Given the description of an element on the screen output the (x, y) to click on. 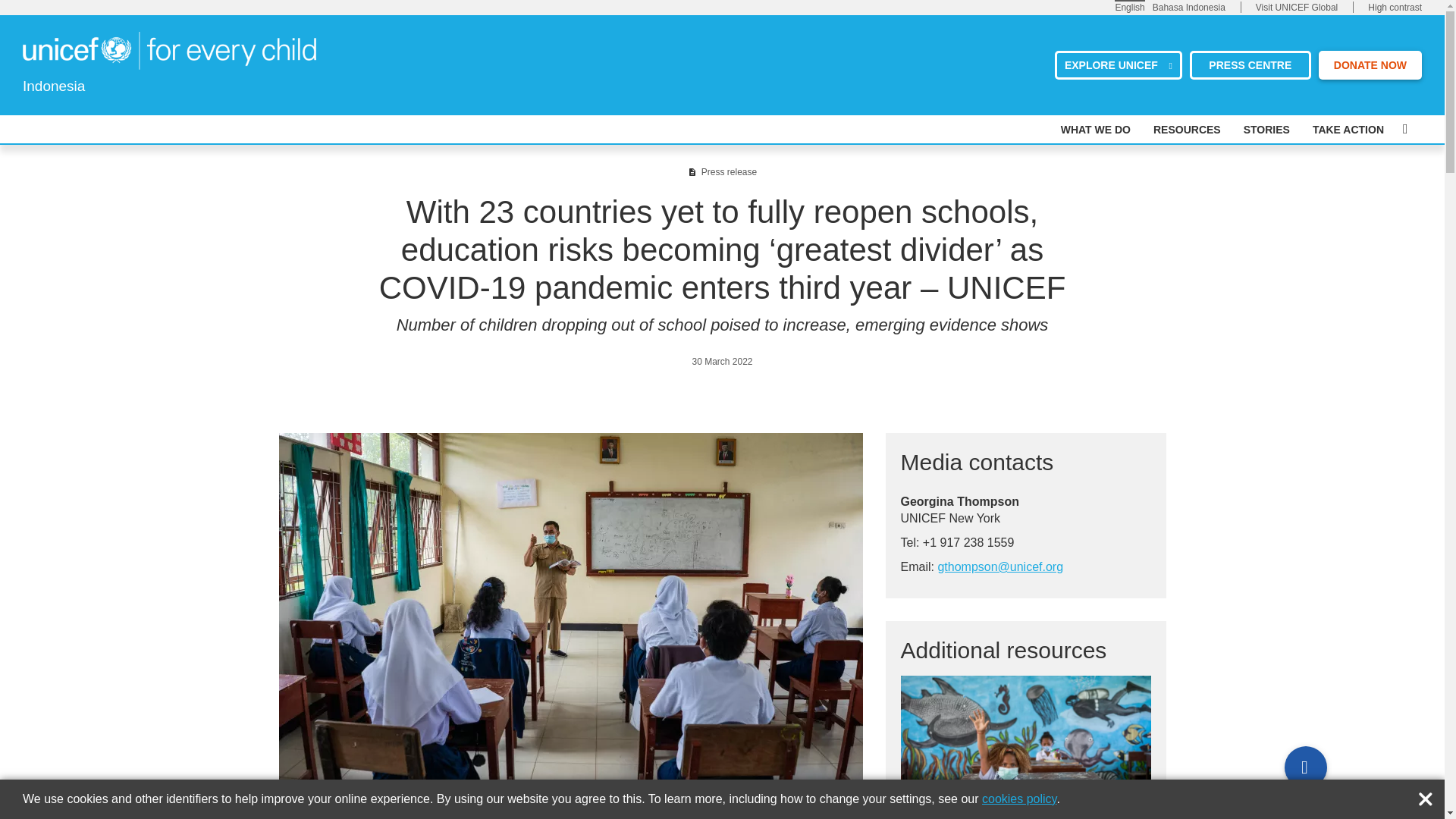
Indonesia (169, 50)
TAKE ACTION (1348, 129)
STORIES (1266, 129)
EXPLORE UNICEF (1118, 63)
RESOURCES (1187, 129)
cookies policy (1019, 798)
High contrast (1395, 7)
DONATE NOW (1370, 63)
EXPLORE UNICEF (1118, 63)
UNICEF (169, 49)
Visit UNICEF Global (1296, 7)
English (1129, 6)
WHAT WE DO (1096, 129)
PRESS CENTRE (1250, 63)
